Given the description of an element on the screen output the (x, y) to click on. 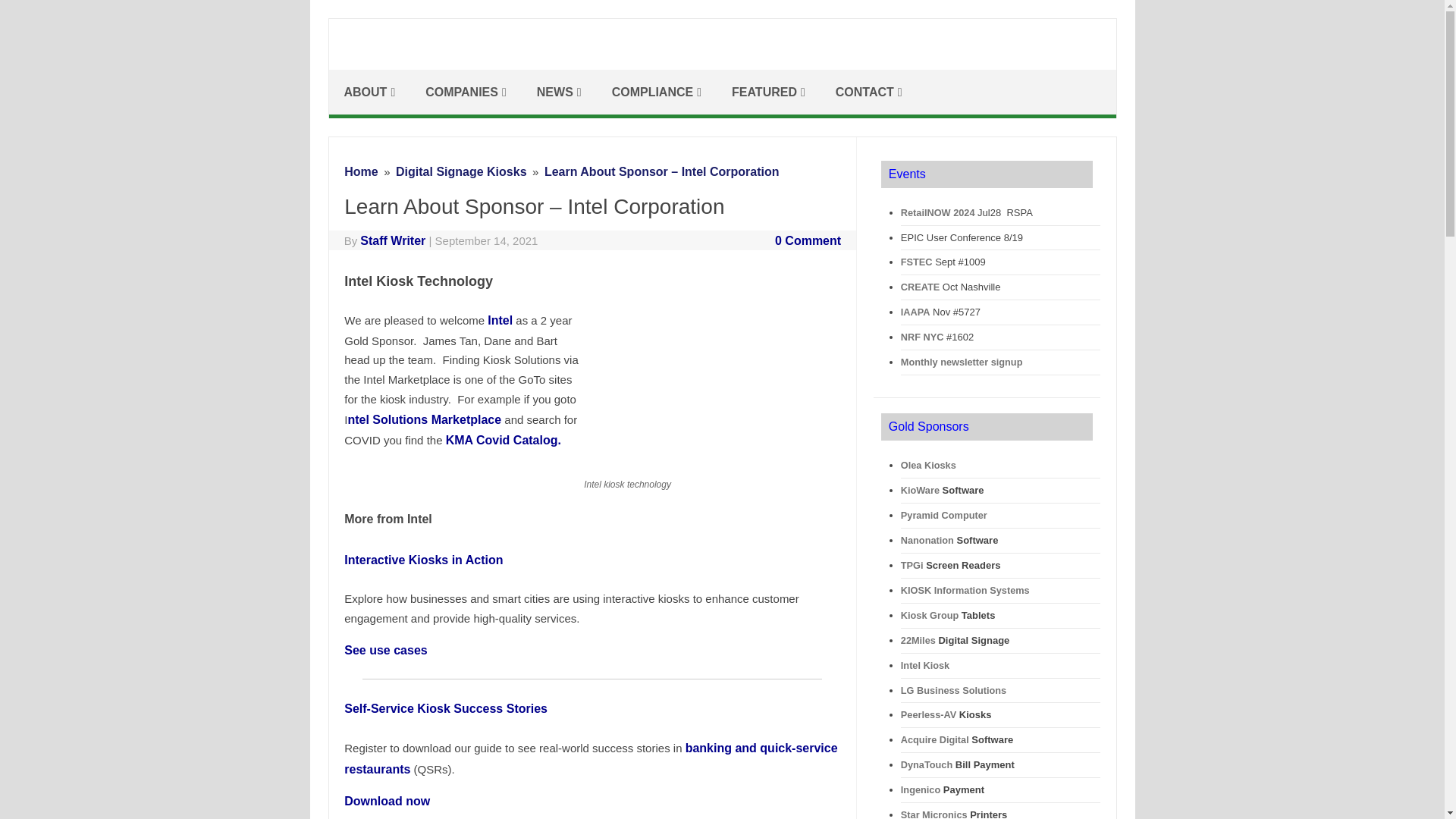
ABOUT (369, 91)
Posts by Staff Writer (392, 240)
COMPANIES (465, 91)
NEWS (558, 91)
Self Service Kiosk Machine (722, 64)
Registration for RetailNOW 2024 (938, 212)
